Given the description of an element on the screen output the (x, y) to click on. 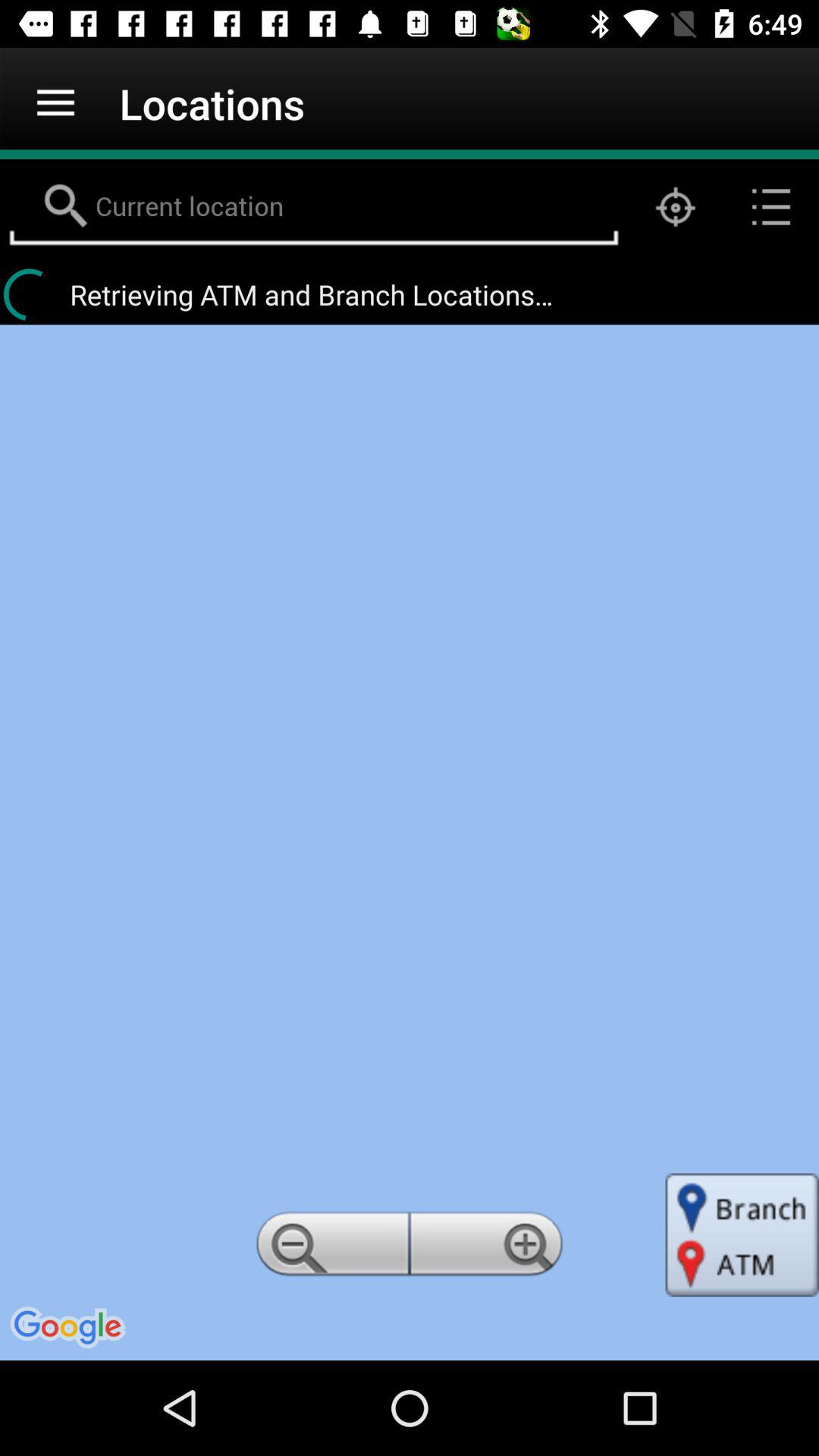
search (313, 206)
